Given the description of an element on the screen output the (x, y) to click on. 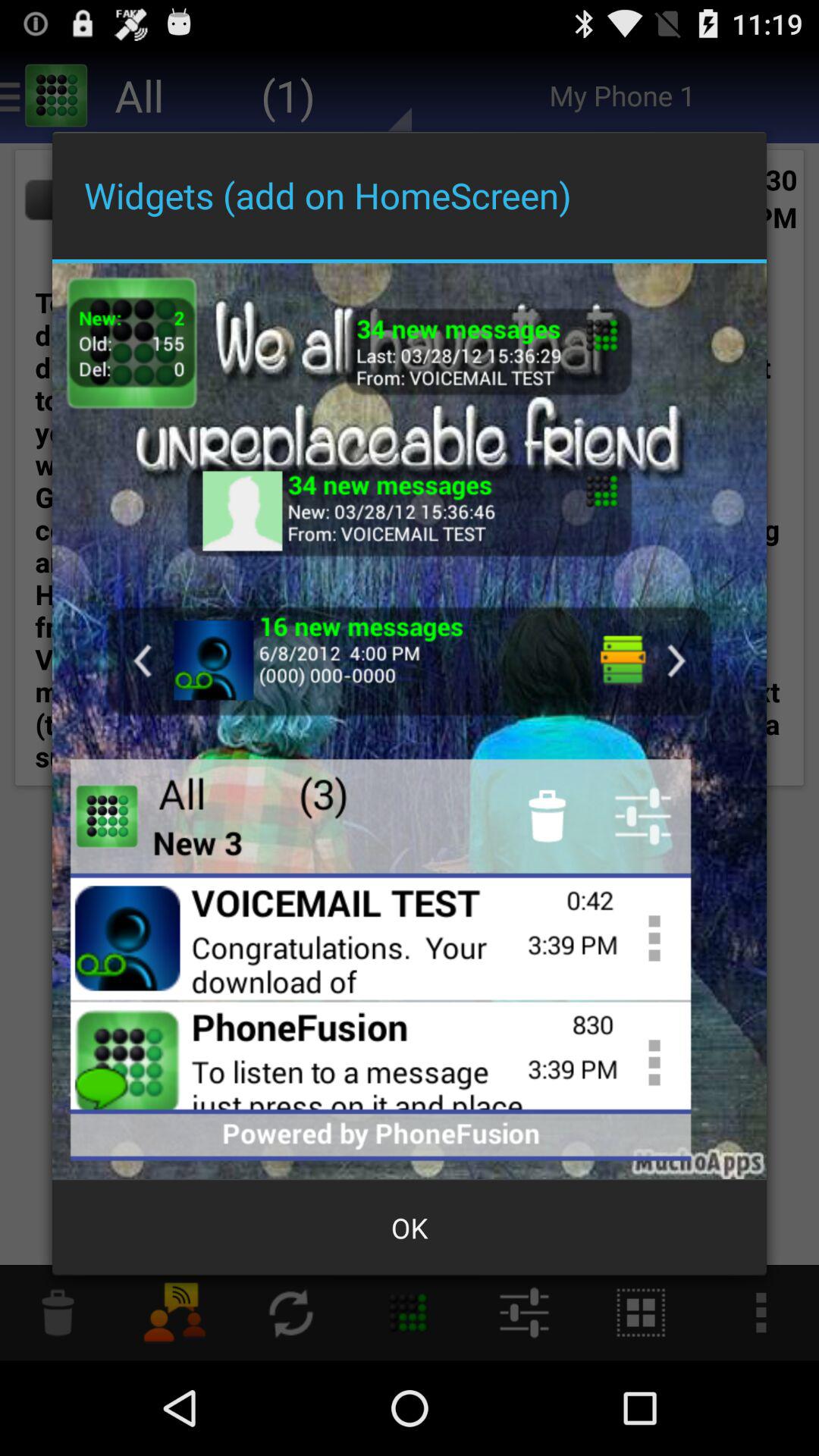
click ok icon (409, 1227)
